Given the description of an element on the screen output the (x, y) to click on. 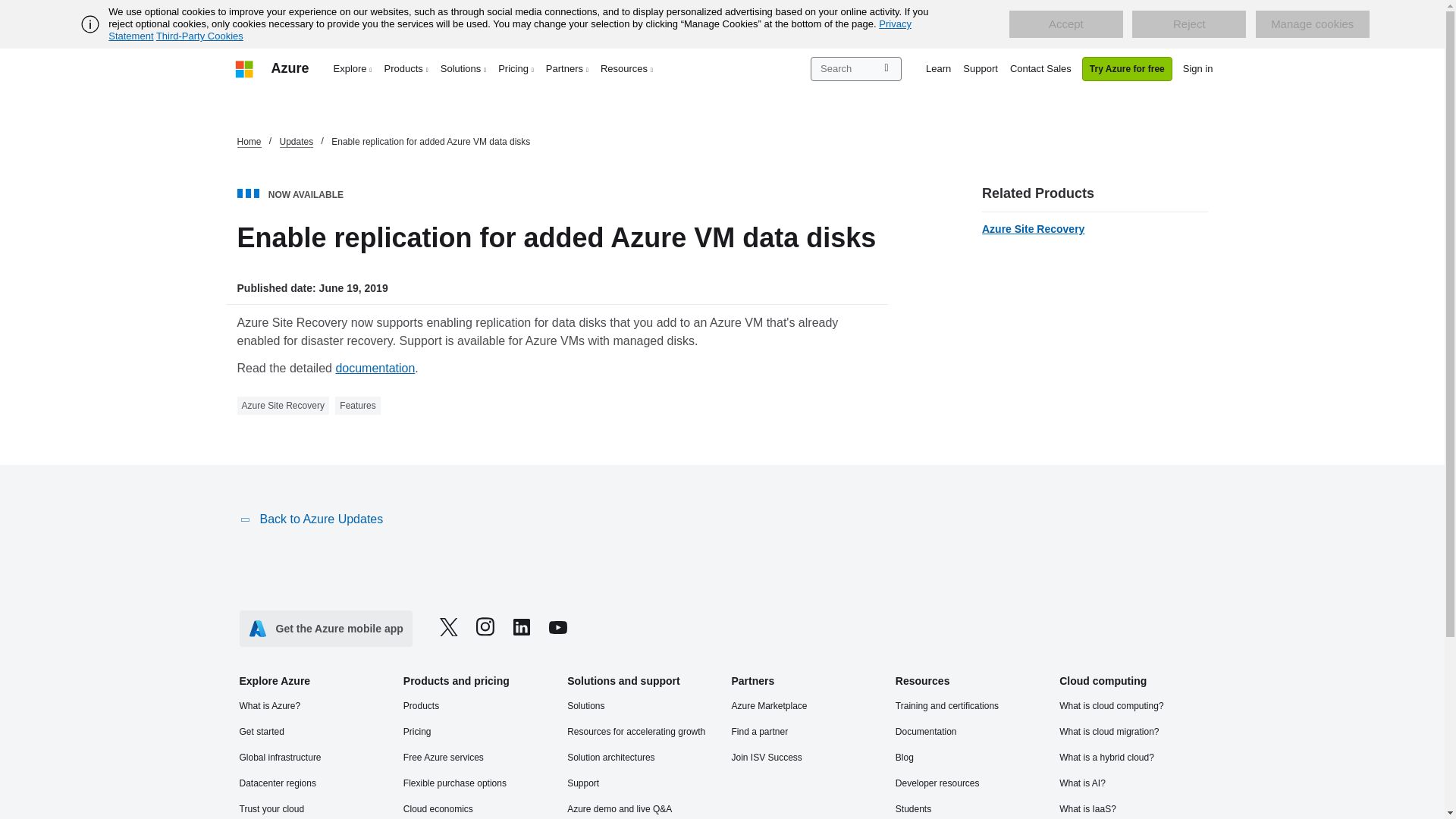
Accept (1065, 23)
Third-Party Cookies (199, 35)
Explore (352, 68)
Reject (1189, 23)
Privacy Statement (509, 29)
Products (405, 68)
Skip to main content (7, 7)
Azure (289, 68)
Manage cookies (1312, 23)
